Given the description of an element on the screen output the (x, y) to click on. 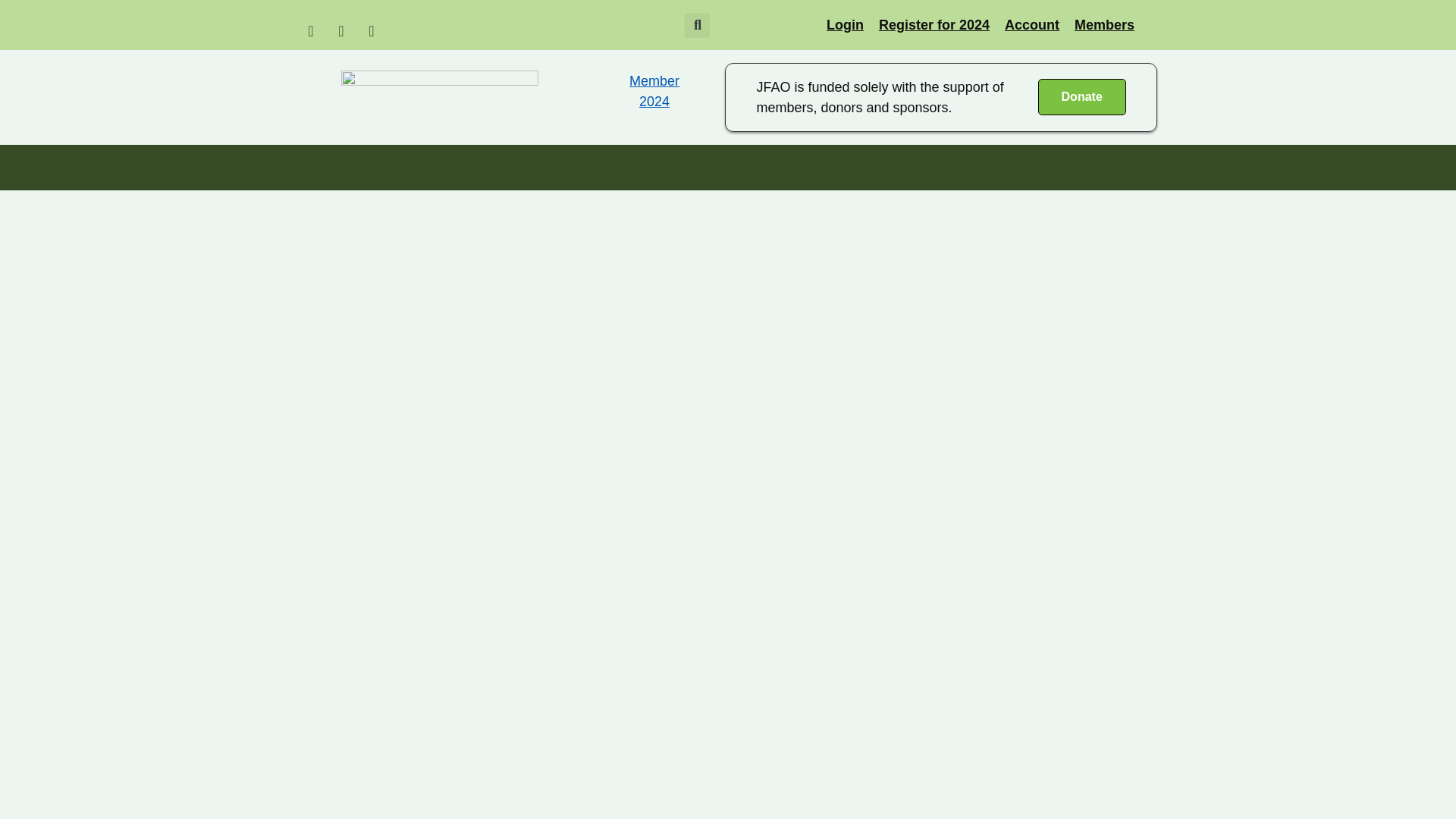
Account (1032, 24)
Member (653, 80)
2024 (654, 101)
Donate (1081, 96)
Members (1104, 24)
Login (844, 24)
Register for 2024 (933, 24)
